Given the description of an element on the screen output the (x, y) to click on. 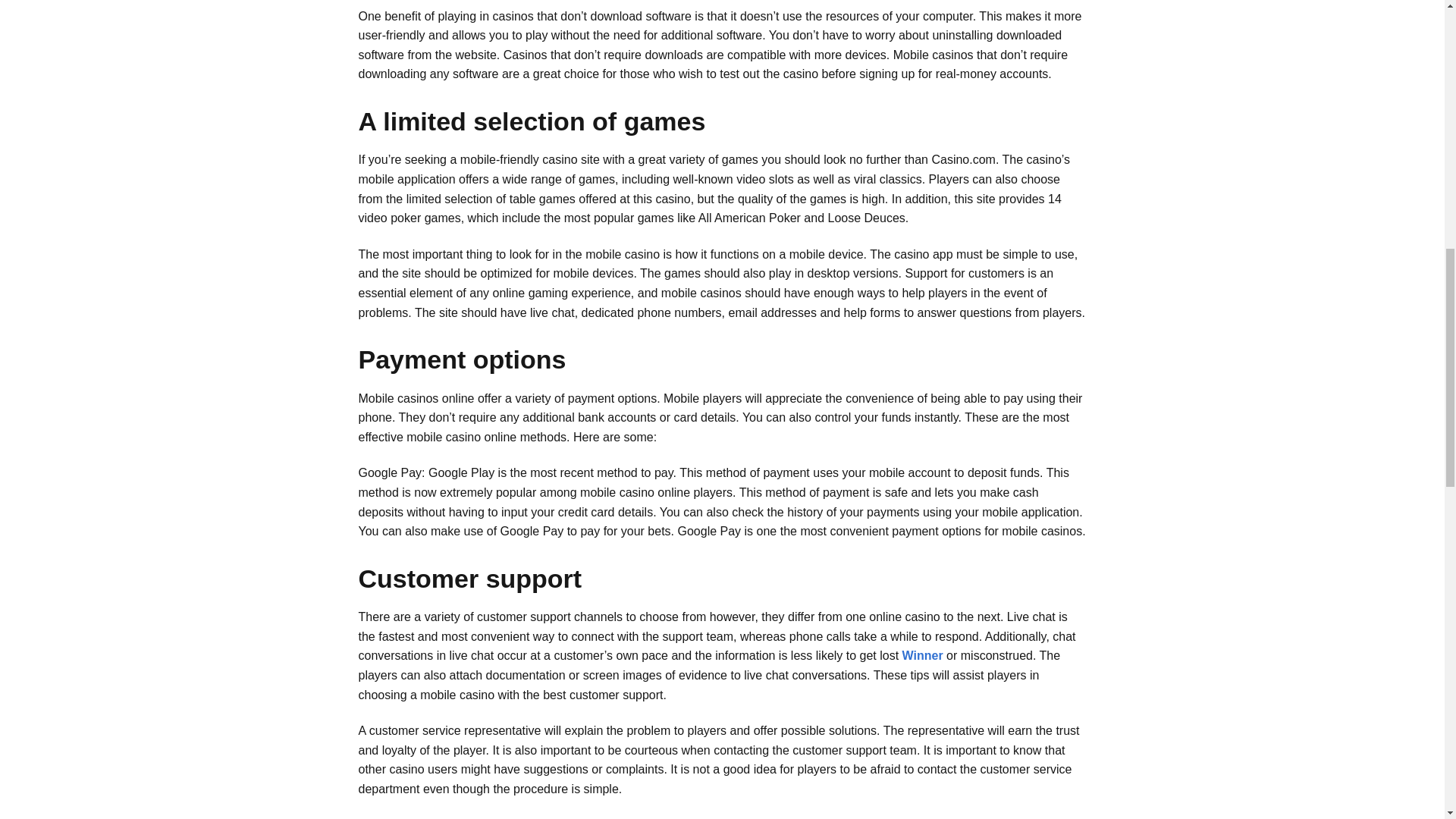
Winner (922, 655)
